Given the description of an element on the screen output the (x, y) to click on. 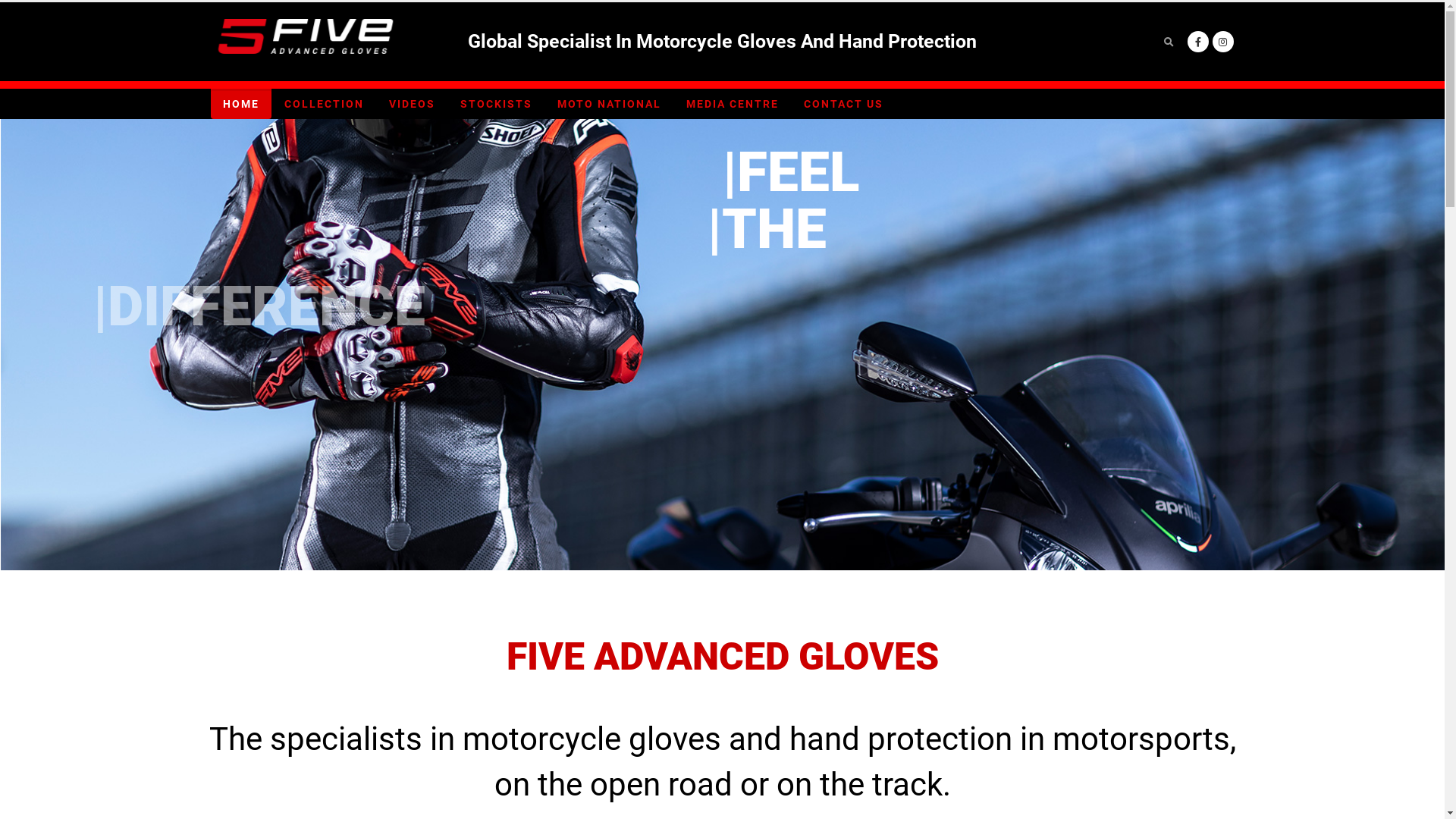
STOCKISTS Element type: text (495, 103)
COLLECTION Element type: text (323, 103)
HOME Element type: text (240, 103)
Facebook Element type: hover (1197, 41)
MOTO NATIONAL Element type: text (608, 103)
VIDEOS Element type: text (411, 103)
MEDIA CENTRE Element type: text (731, 103)
Instagram Element type: hover (1222, 41)
CONTACT US Element type: text (843, 103)
